Given the description of an element on the screen output the (x, y) to click on. 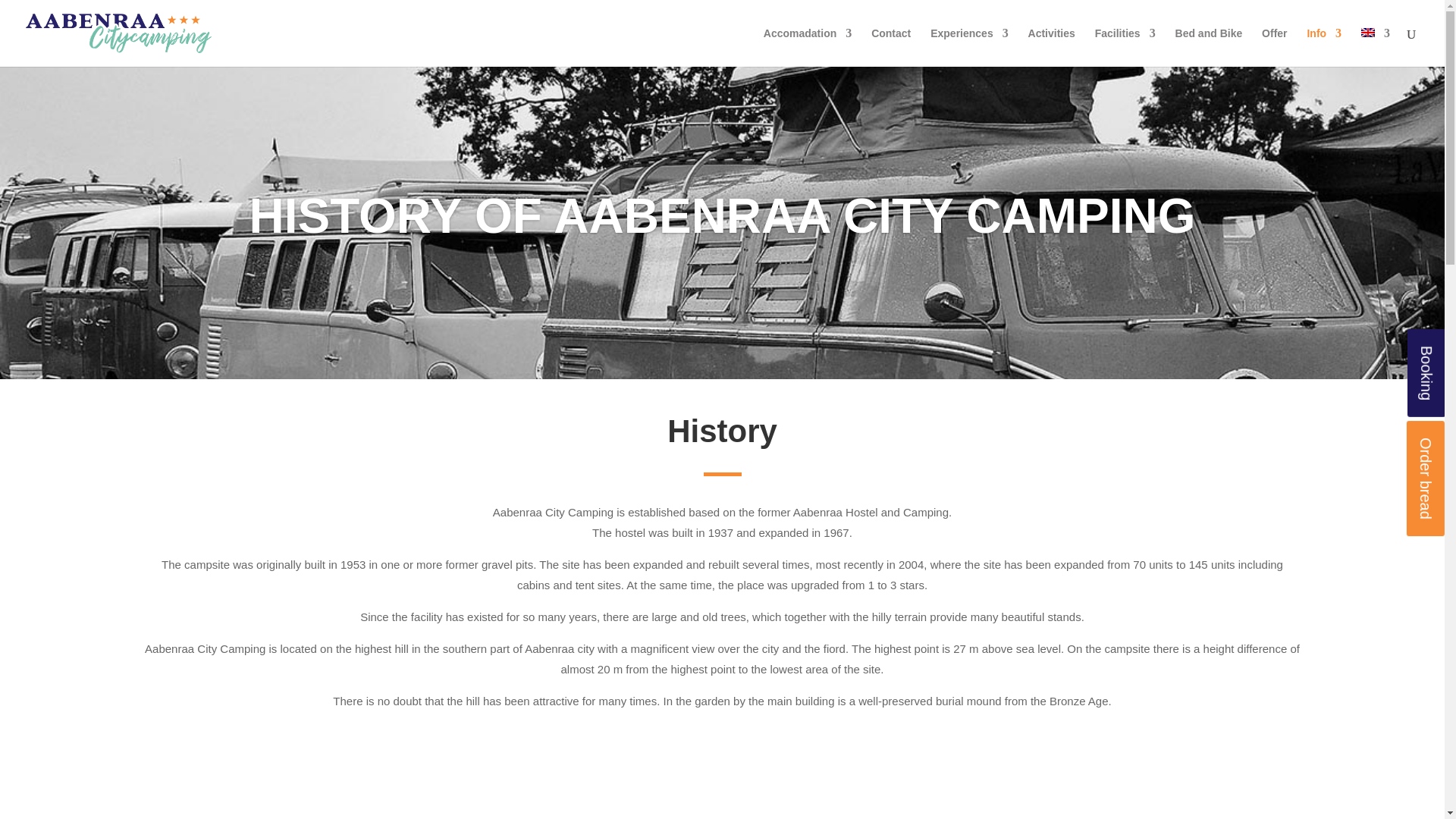
Info (1323, 46)
Activities (1051, 46)
Accomadation (806, 46)
Facilities (1125, 46)
Experiences (969, 46)
Bed and Bike (1208, 46)
AabenraaVandrehjem1 (721, 787)
Contact (890, 46)
AabenraaVandrehjem (315, 787)
